Given the description of an element on the screen output the (x, y) to click on. 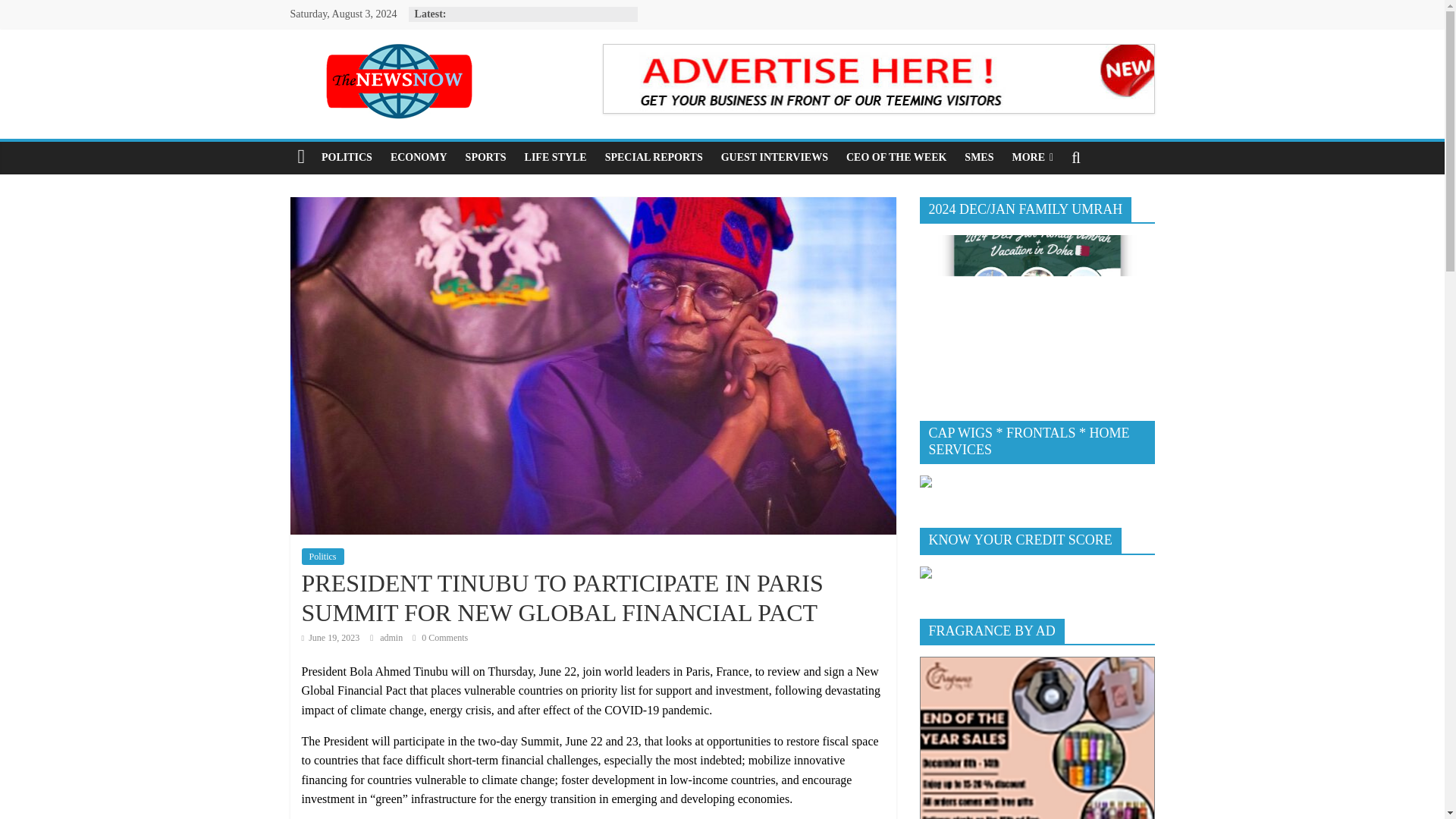
June 19, 2023 (330, 637)
MORE (1032, 157)
Politics (322, 556)
SPECIAL REPORTS (653, 157)
ECONOMY (419, 157)
admin (392, 637)
4:23 pm (330, 637)
POLITICS (347, 157)
LIFE STYLE (555, 157)
0 Comments (439, 637)
admin (392, 637)
CEO OF THE WEEK (896, 157)
SPORTS (486, 157)
GUEST INTERVIEWS (774, 157)
SMES (979, 157)
